Given the description of an element on the screen output the (x, y) to click on. 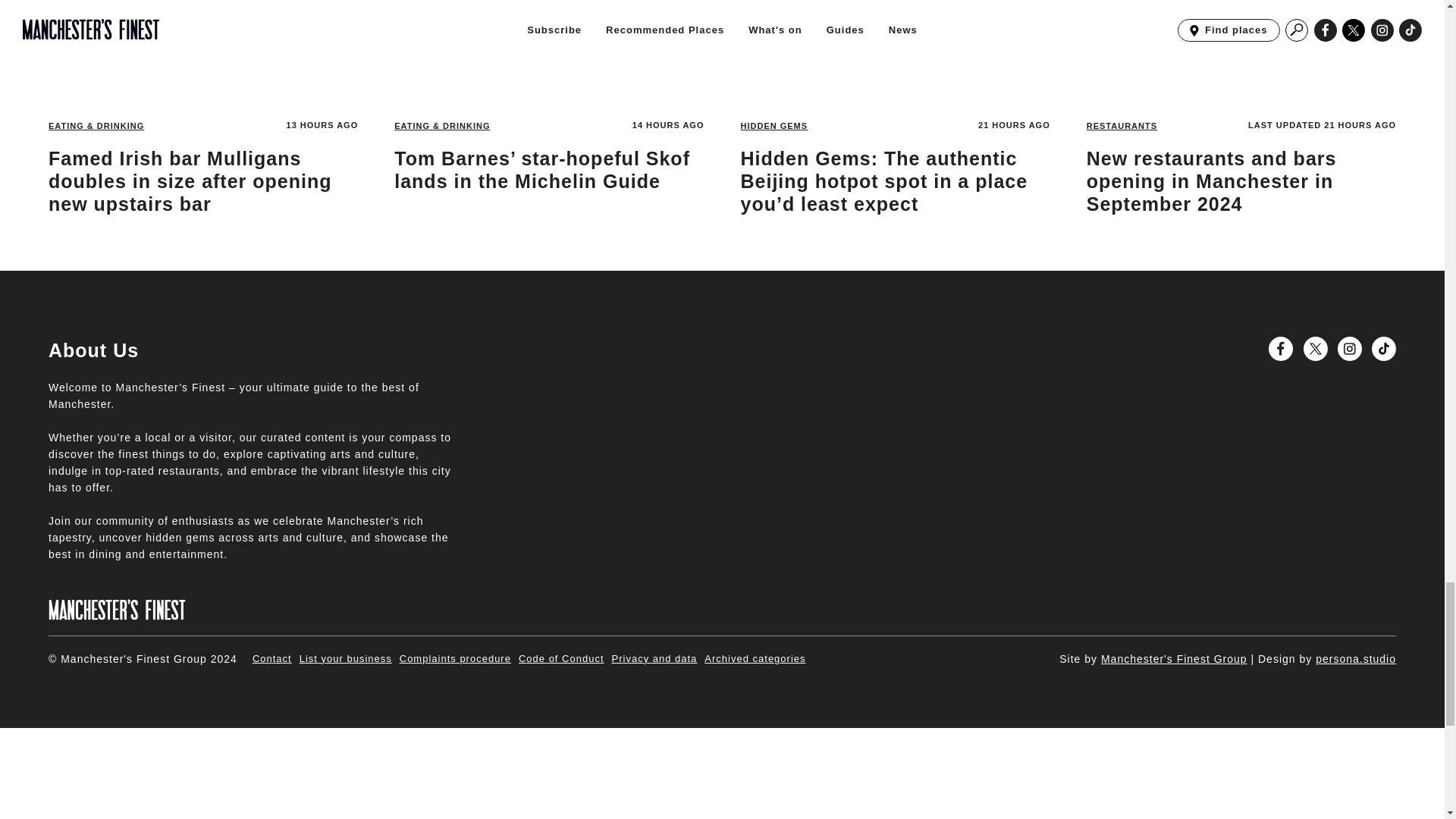
Go to Manchester's Finest Facebook page (1280, 348)
Go to Manchester's Finest Instagram profile (1349, 348)
Go to Manchester's Finest TikTok profile (1383, 348)
Go to Manchester's Finest X profile (1315, 348)
